Given the description of an element on the screen output the (x, y) to click on. 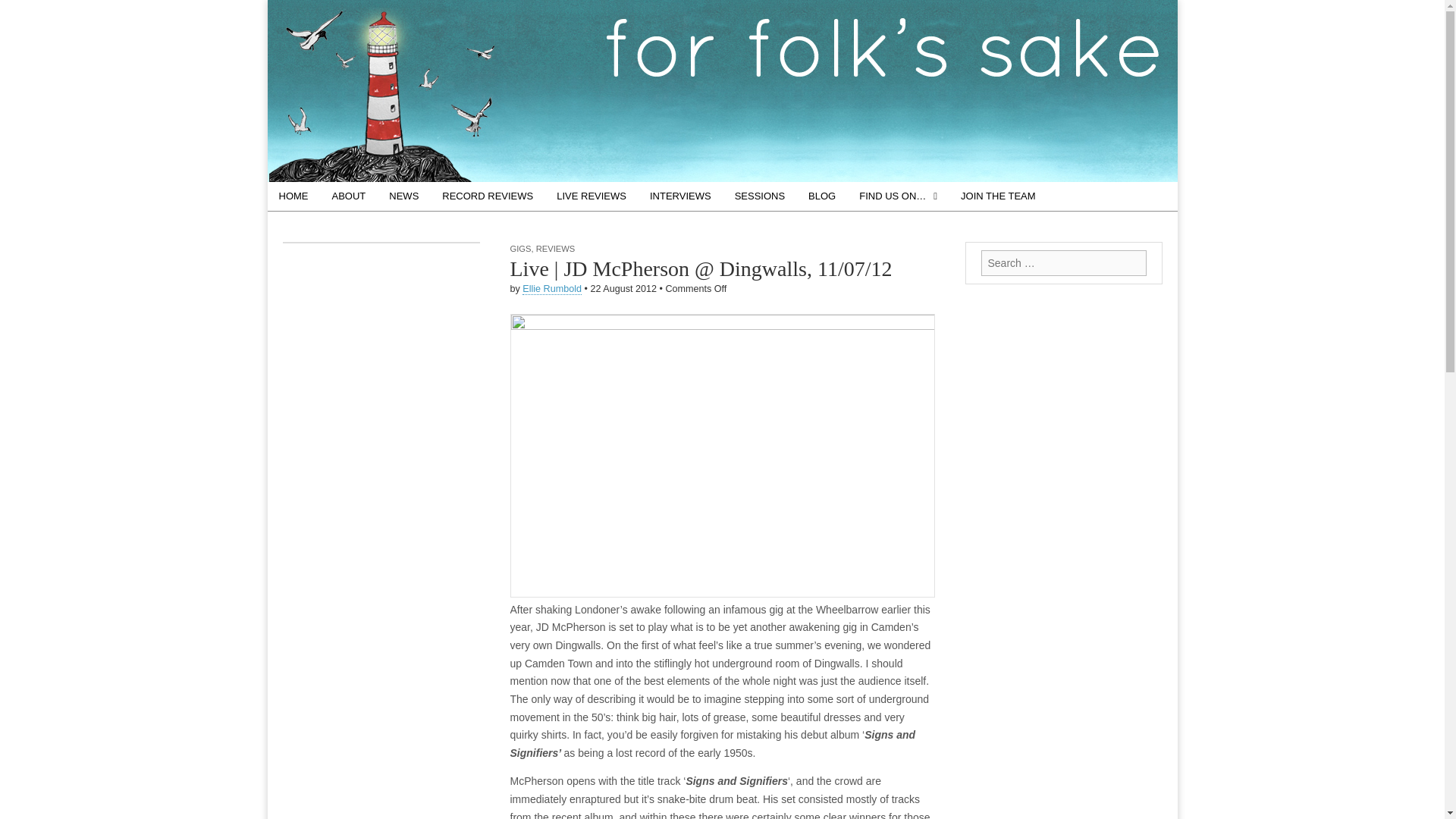
JOIN THE TEAM (997, 195)
ABOUT (348, 195)
RECORD REVIEWS (487, 195)
Search (23, 12)
INTERVIEWS (680, 195)
REVIEWS (555, 248)
Posts by Ellie Rumbold (551, 288)
NEWS (403, 195)
SESSIONS (759, 195)
Ellie Rumbold (551, 288)
GIGS (520, 248)
LIVE REVIEWS (590, 195)
